Given the description of an element on the screen output the (x, y) to click on. 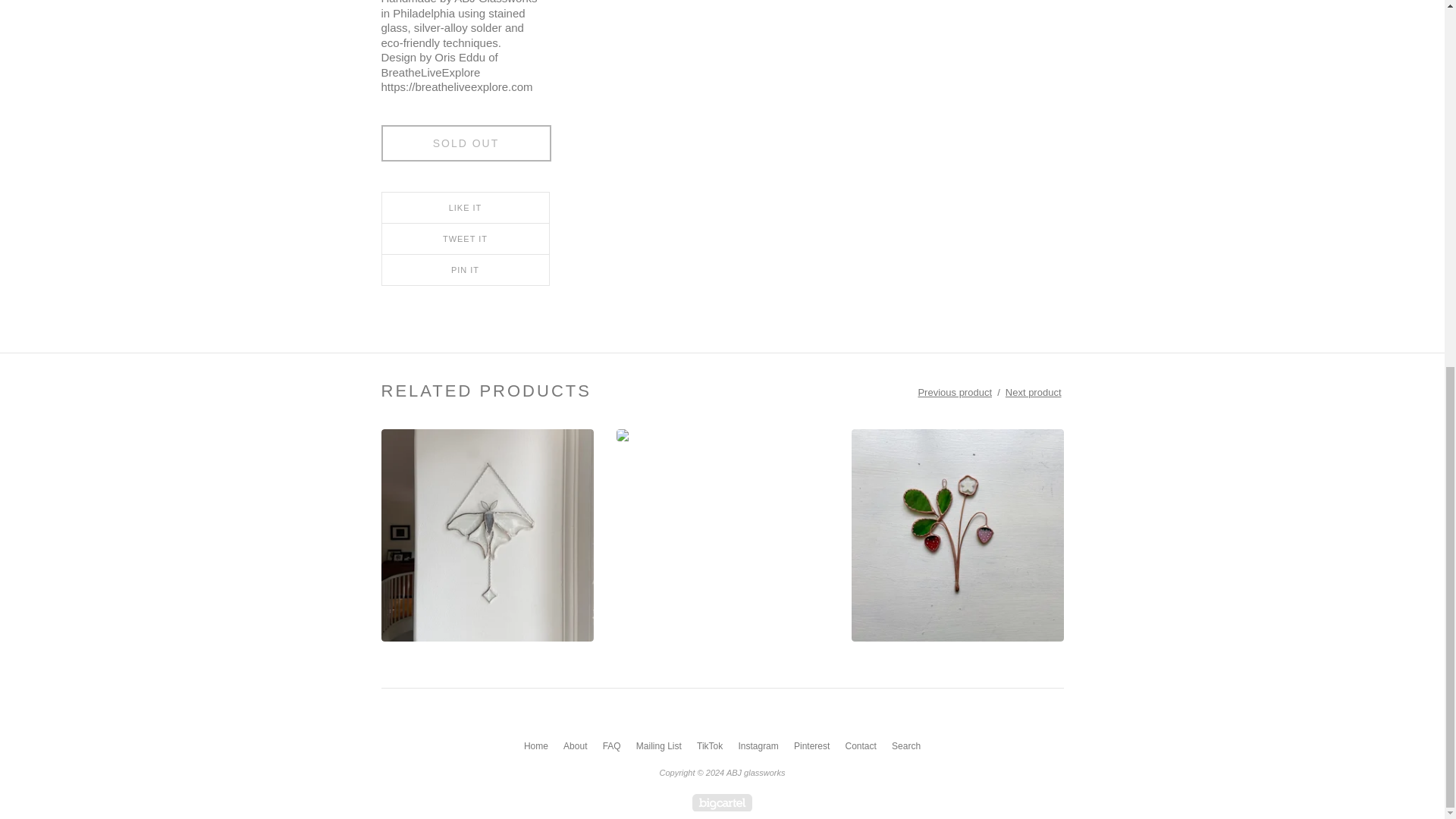
Contact (860, 746)
View Beveled Glass Swallowtail Butterfly (721, 535)
Home (536, 746)
Instagram (758, 746)
TikTok (709, 746)
Previous product (954, 391)
View Previous product (954, 391)
View Strawberry Suncatcher no.1 - Summer in the Shire (956, 535)
View Beveled Glass Luna Moth (486, 535)
Next product (1033, 391)
View Next product (1033, 391)
Search (905, 746)
Mailing List (658, 746)
FAQ (611, 746)
Pinterest (811, 746)
